Given the description of an element on the screen output the (x, y) to click on. 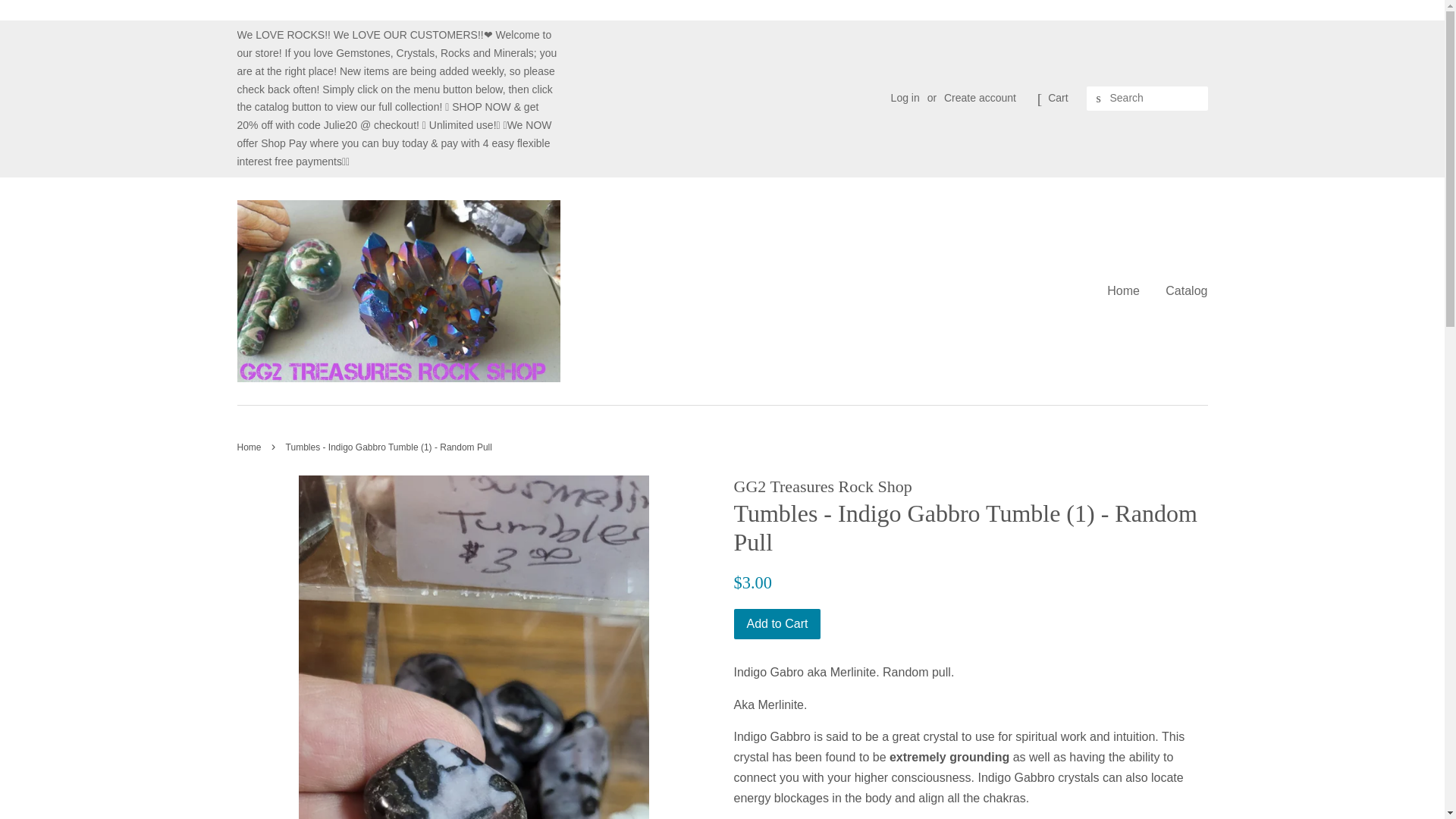
Search (1097, 98)
Create account (979, 97)
Catalog (1180, 290)
Home (249, 447)
Cart (1057, 98)
Add to Cart (777, 624)
Log in (905, 97)
Back to the frontpage (249, 447)
Home (1128, 290)
